Given the description of an element on the screen output the (x, y) to click on. 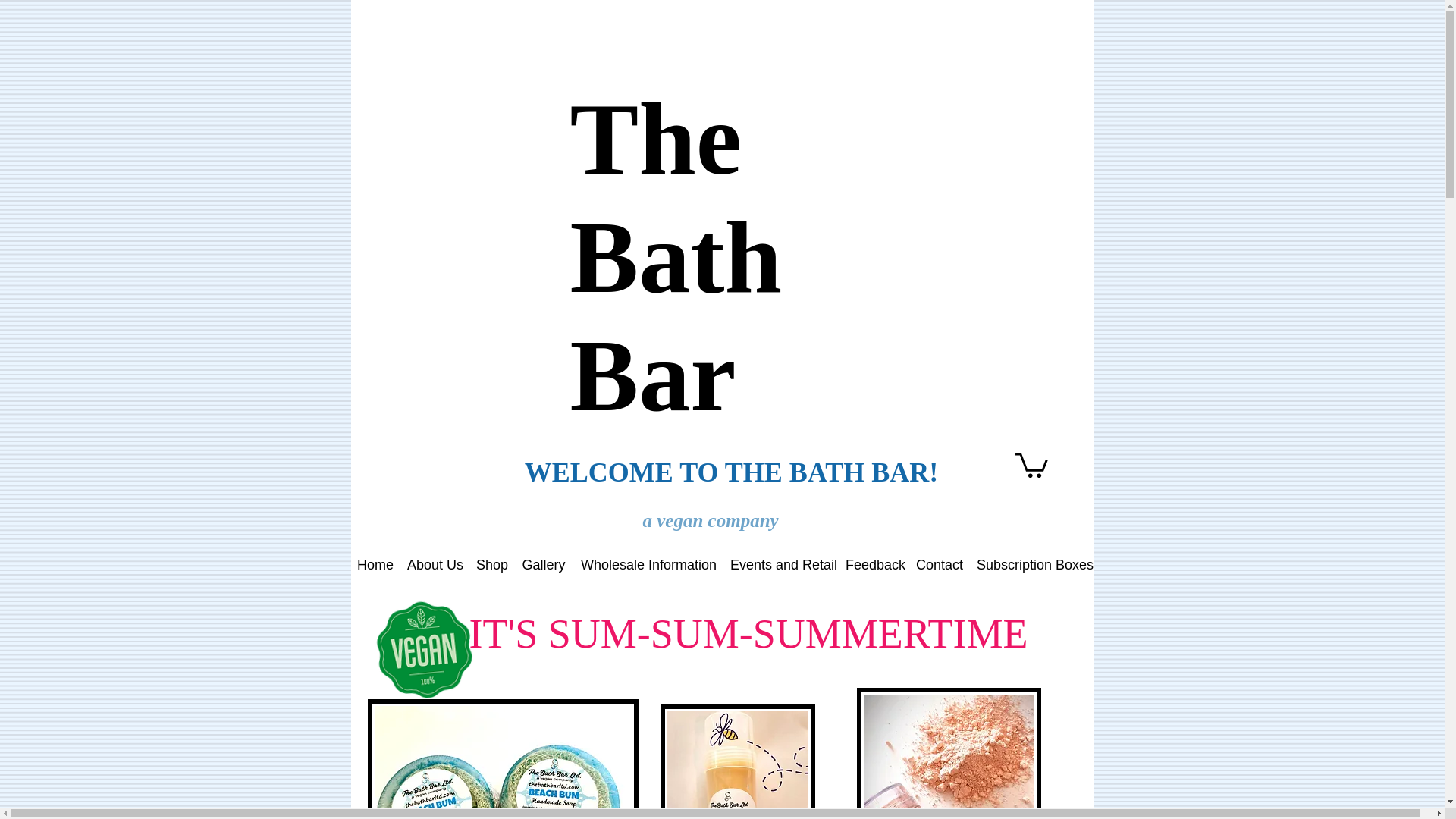
Wholesale Information (647, 564)
Contact (938, 564)
Gallery (543, 564)
Subscription Boxes (1031, 564)
Home (373, 564)
About Us (433, 564)
Feedback (873, 564)
Events and Retail (780, 564)
